Given the description of an element on the screen output the (x, y) to click on. 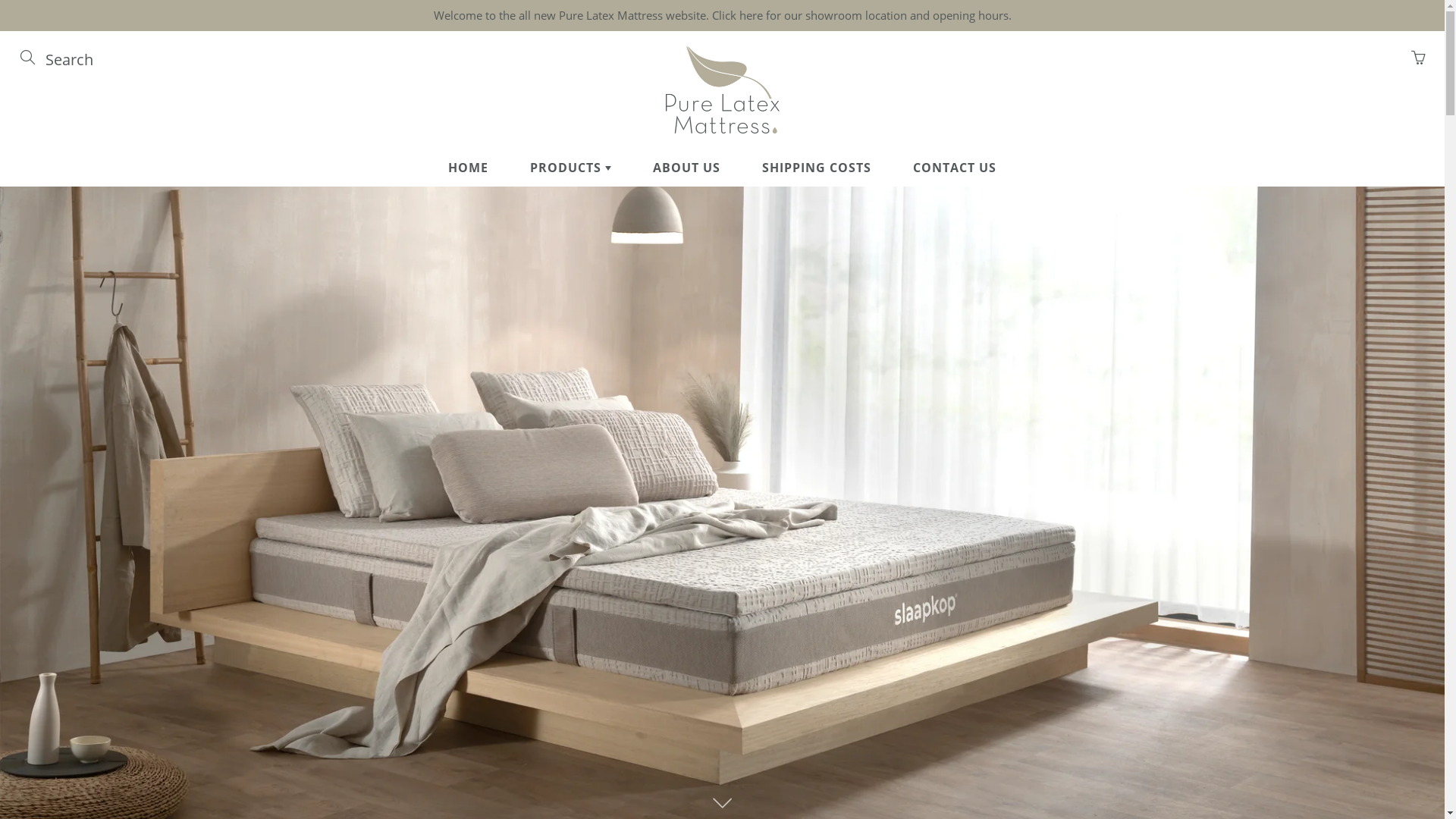
ABOUT US Element type: text (686, 167)
You have 0 items in your cart Element type: text (1417, 57)
HOME Element type: text (468, 167)
Search Element type: text (28, 57)
CONTACT US Element type: text (954, 167)
SHIPPING COSTS Element type: text (816, 167)
PRODUCTS Element type: text (570, 167)
